Given the description of an element on the screen output the (x, y) to click on. 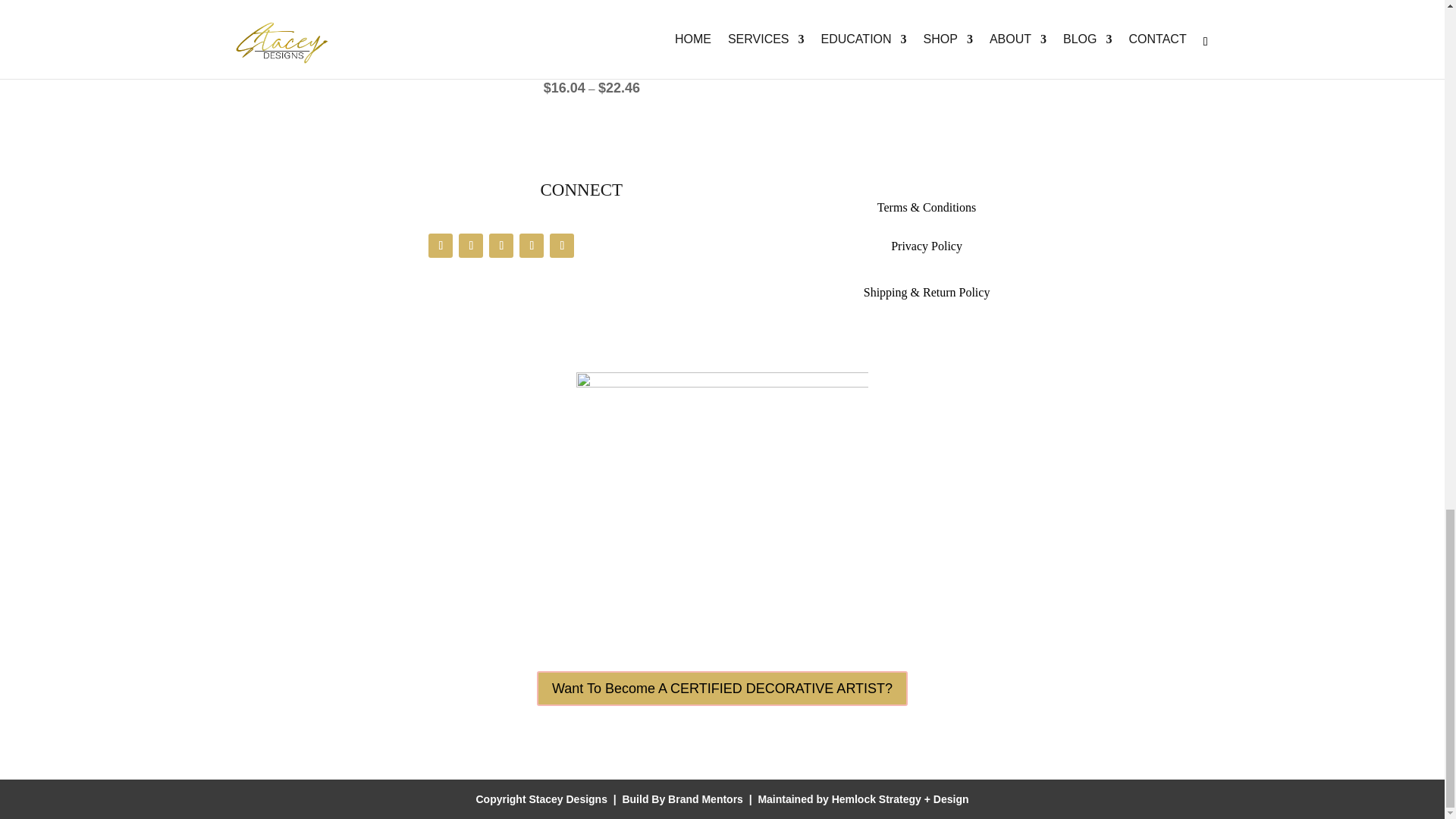
Follow on Instagram (470, 245)
Follow on Facebook (440, 245)
Stacey Deisgns website-logo (722, 448)
Follow on TikTok (561, 245)
Follow on Pinterest (501, 245)
Follow on Youtube (531, 245)
